Given the description of an element on the screen output the (x, y) to click on. 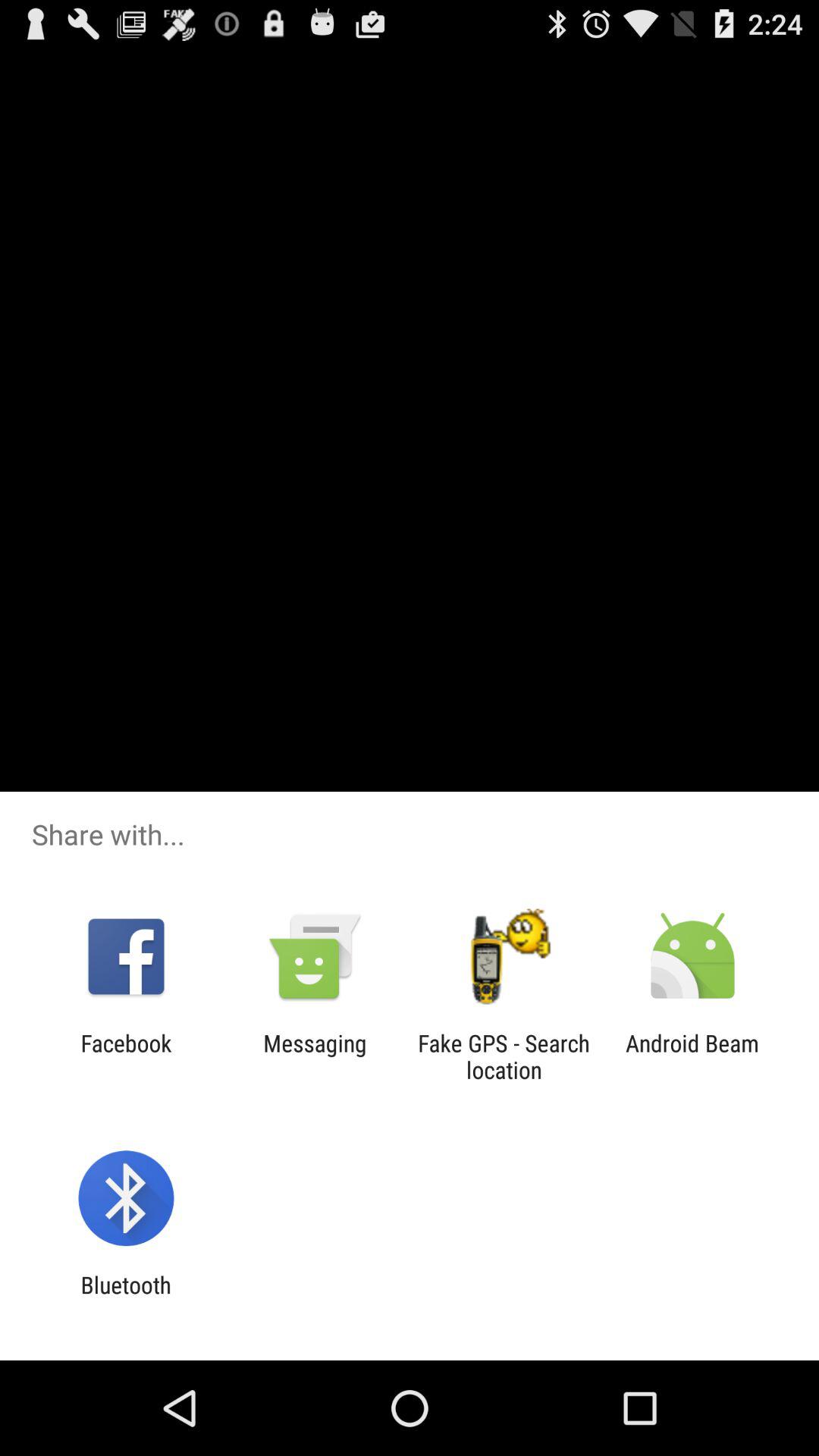
choose the item next to the android beam app (503, 1056)
